Given the description of an element on the screen output the (x, y) to click on. 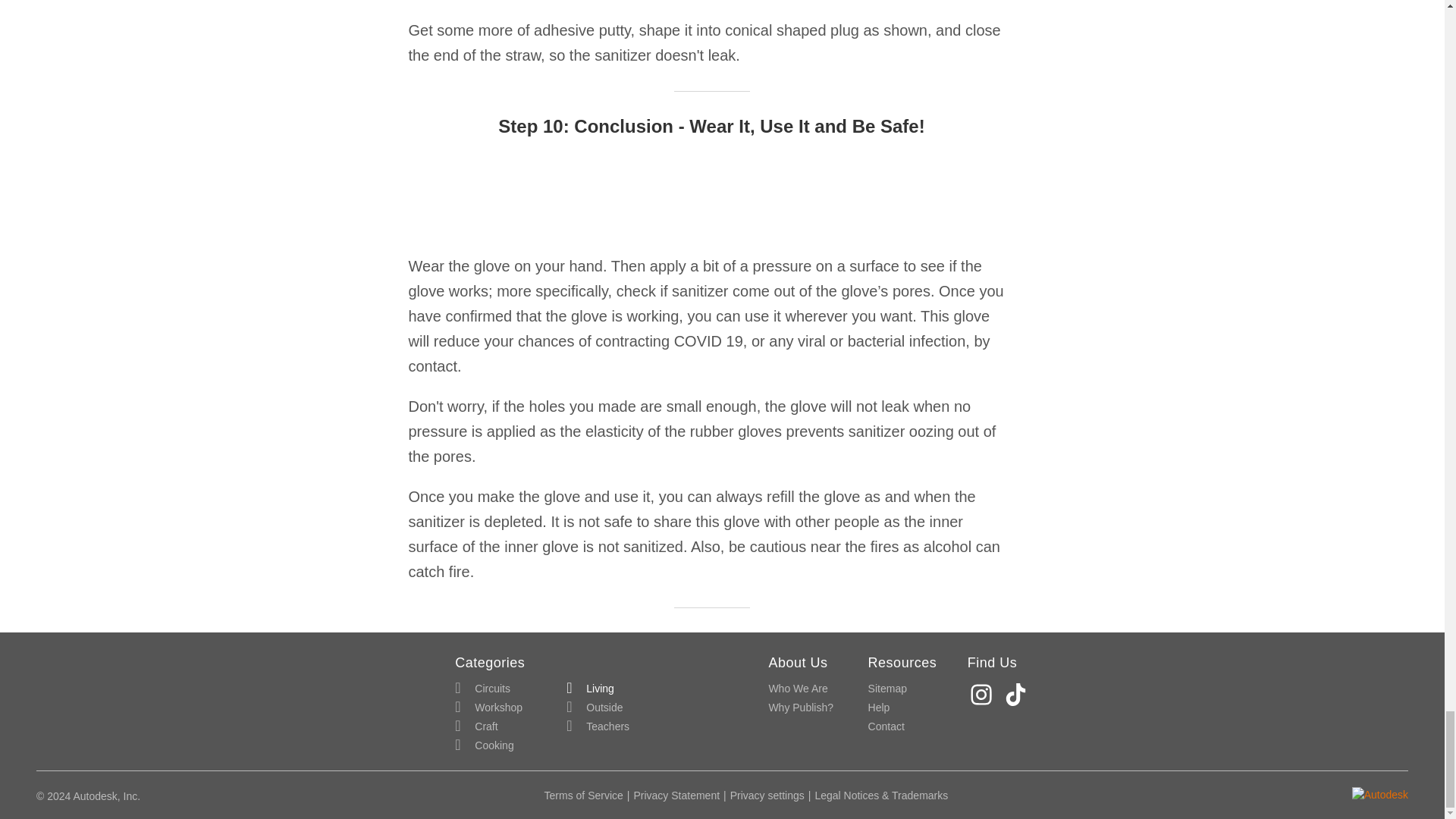
Workshop (488, 707)
Teachers (597, 726)
Instagram (983, 694)
Cooking (483, 745)
Sitemap (887, 688)
Craft (475, 726)
Outside (594, 707)
Why Publish? (800, 707)
Contact (885, 726)
Privacy settings (767, 795)
